Given the description of an element on the screen output the (x, y) to click on. 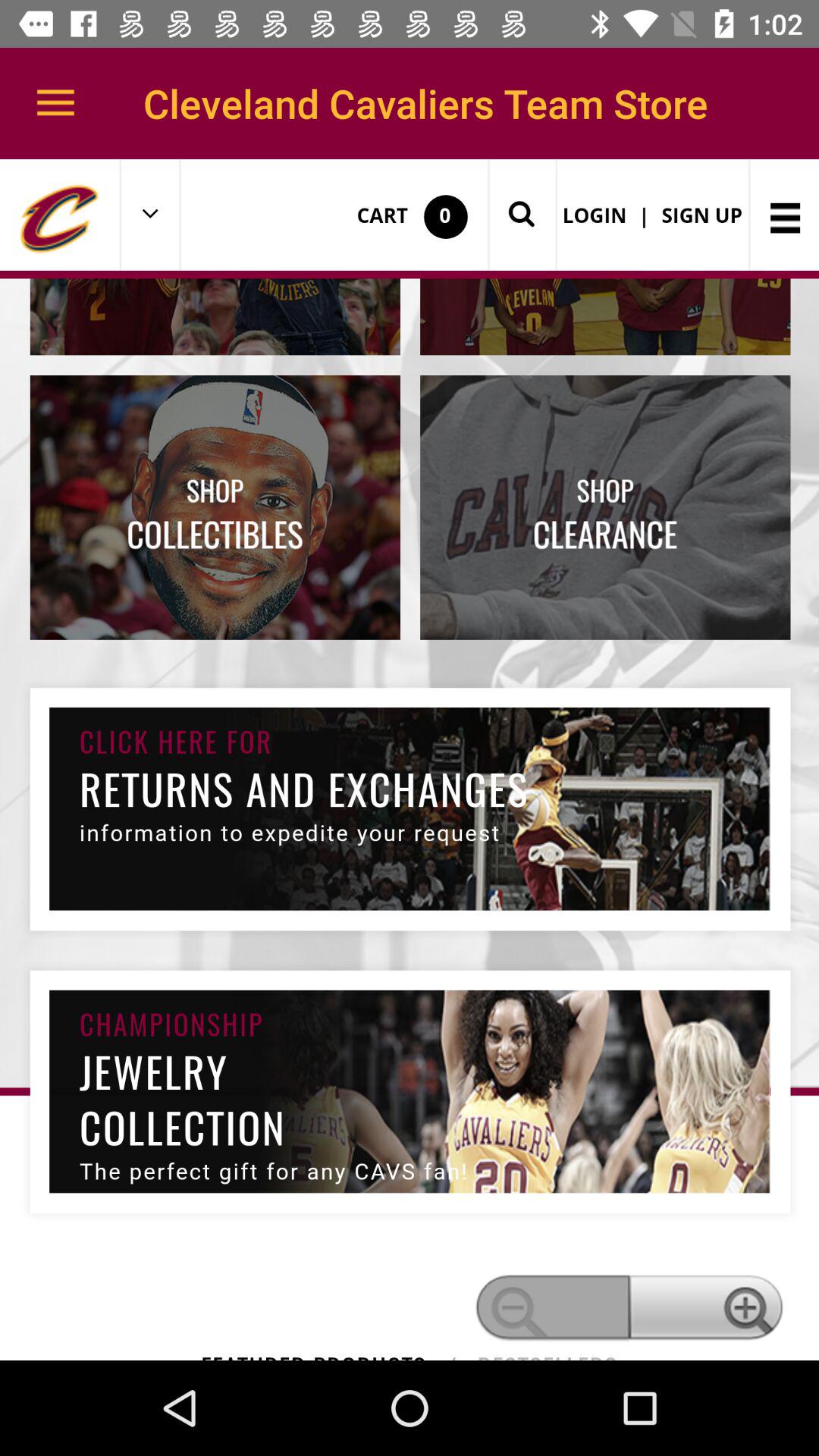
go to different menu (409, 759)
